Given the description of an element on the screen output the (x, y) to click on. 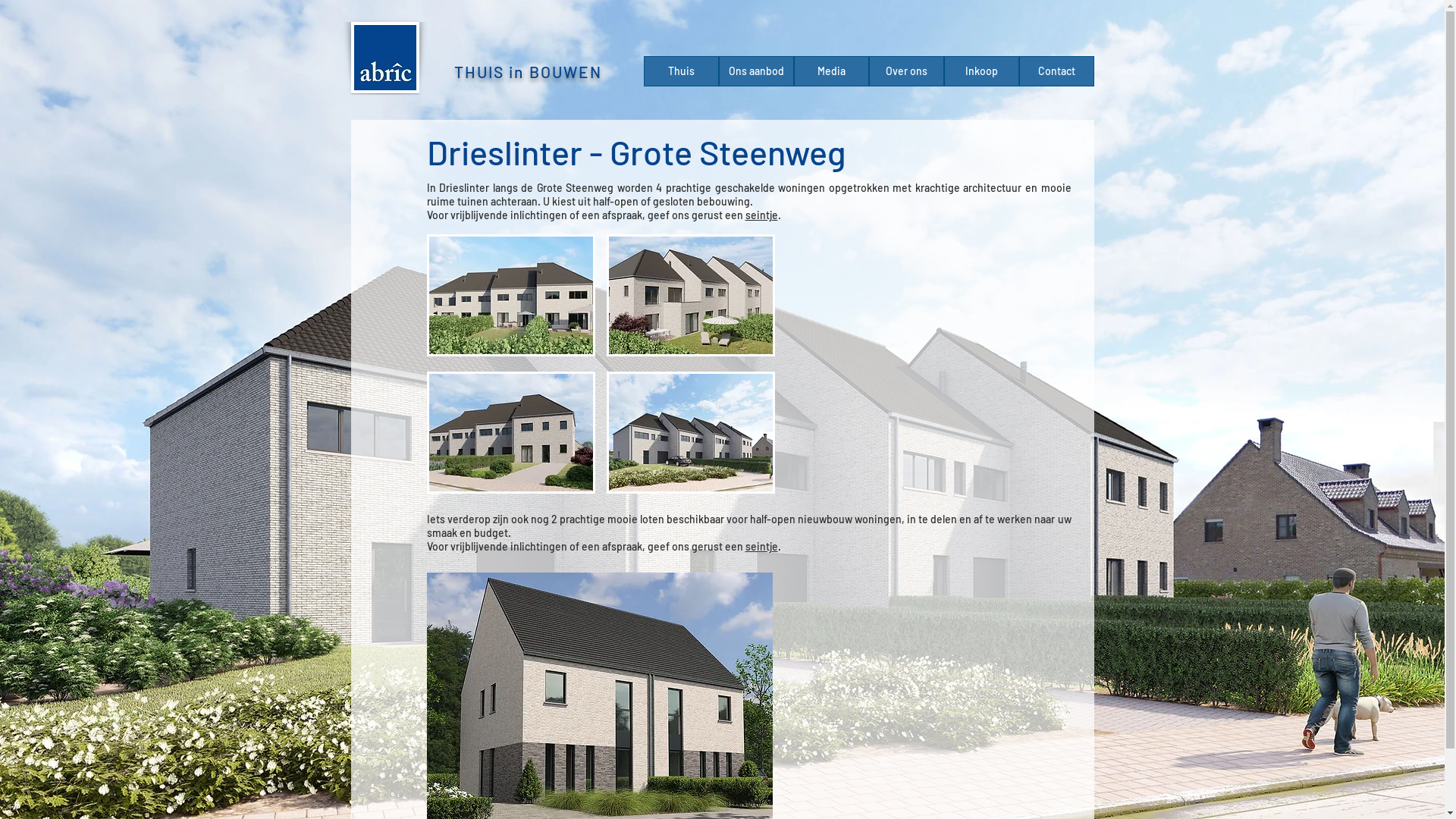
THUIS in BOUWEN Element type: text (528, 71)
Thuis Element type: text (680, 71)
Over ons Element type: text (906, 71)
Contact Element type: text (1056, 71)
Inkoop Element type: text (980, 71)
Media Element type: text (830, 71)
Ons aanbod Element type: text (755, 71)
seintje Element type: text (760, 214)
Google Maps Element type: hover (933, 363)
seintje Element type: text (760, 545)
